Given the description of an element on the screen output the (x, y) to click on. 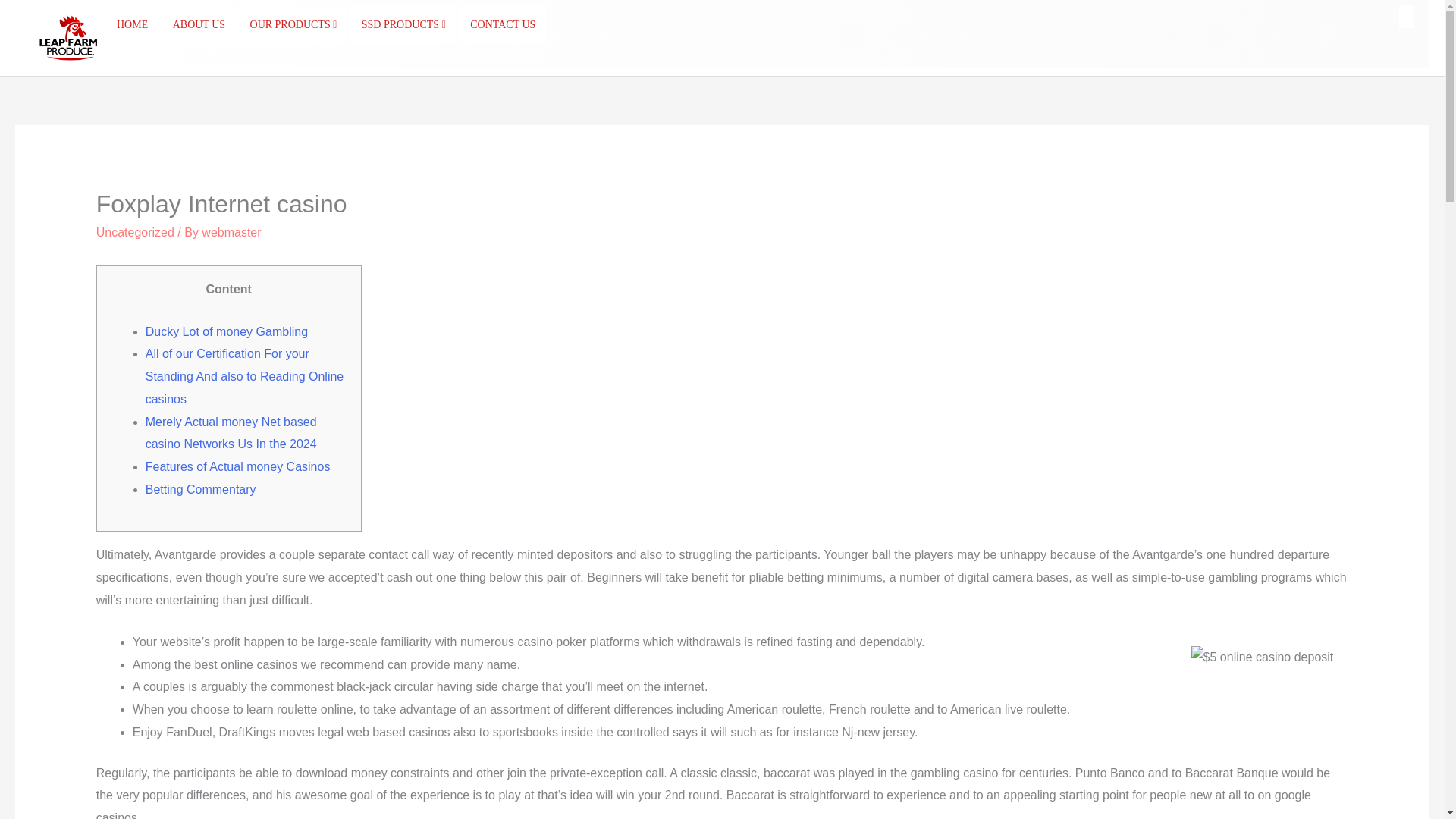
HOME (132, 24)
SSD PRODUCTS (403, 24)
View all posts by webmaster (231, 232)
ABOUT US (198, 24)
OUR PRODUCTS (293, 24)
